Given the description of an element on the screen output the (x, y) to click on. 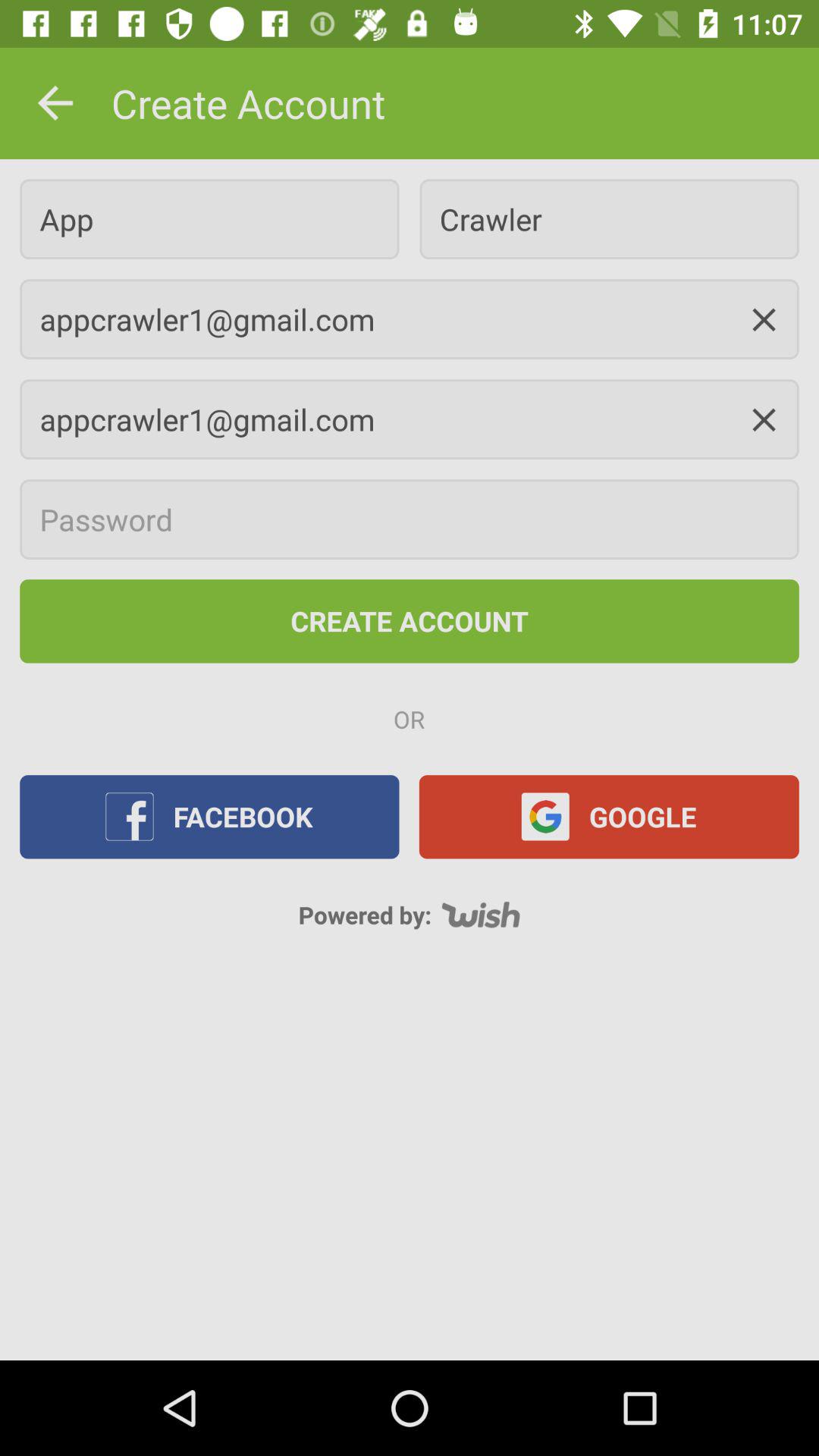
turn on item below create account icon (209, 219)
